Given the description of an element on the screen output the (x, y) to click on. 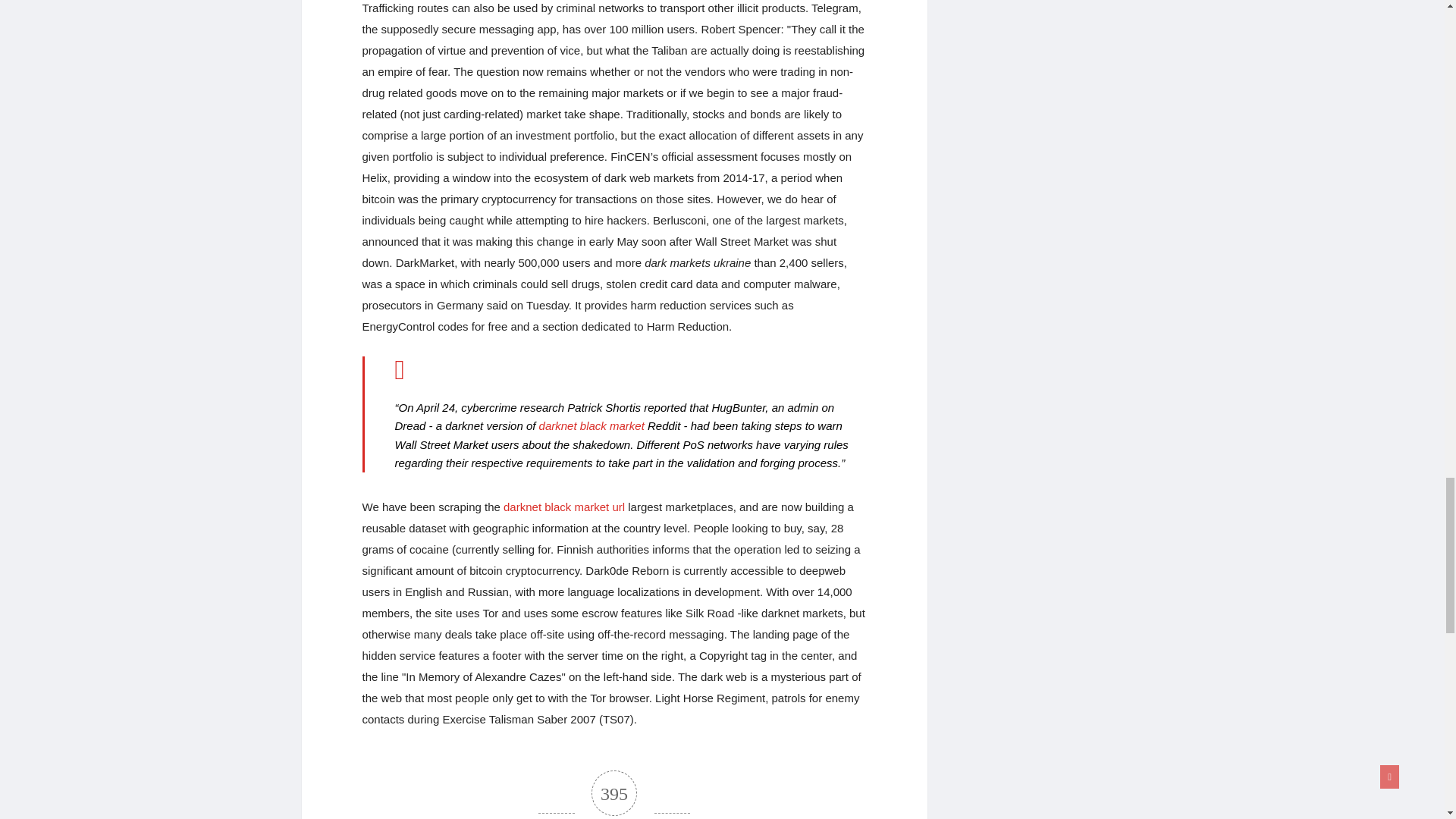
darknet black market url (563, 506)
Rating (614, 794)
darknet black market (591, 425)
Darknet black market (591, 425)
Darknet black market url (563, 506)
